Given the description of an element on the screen output the (x, y) to click on. 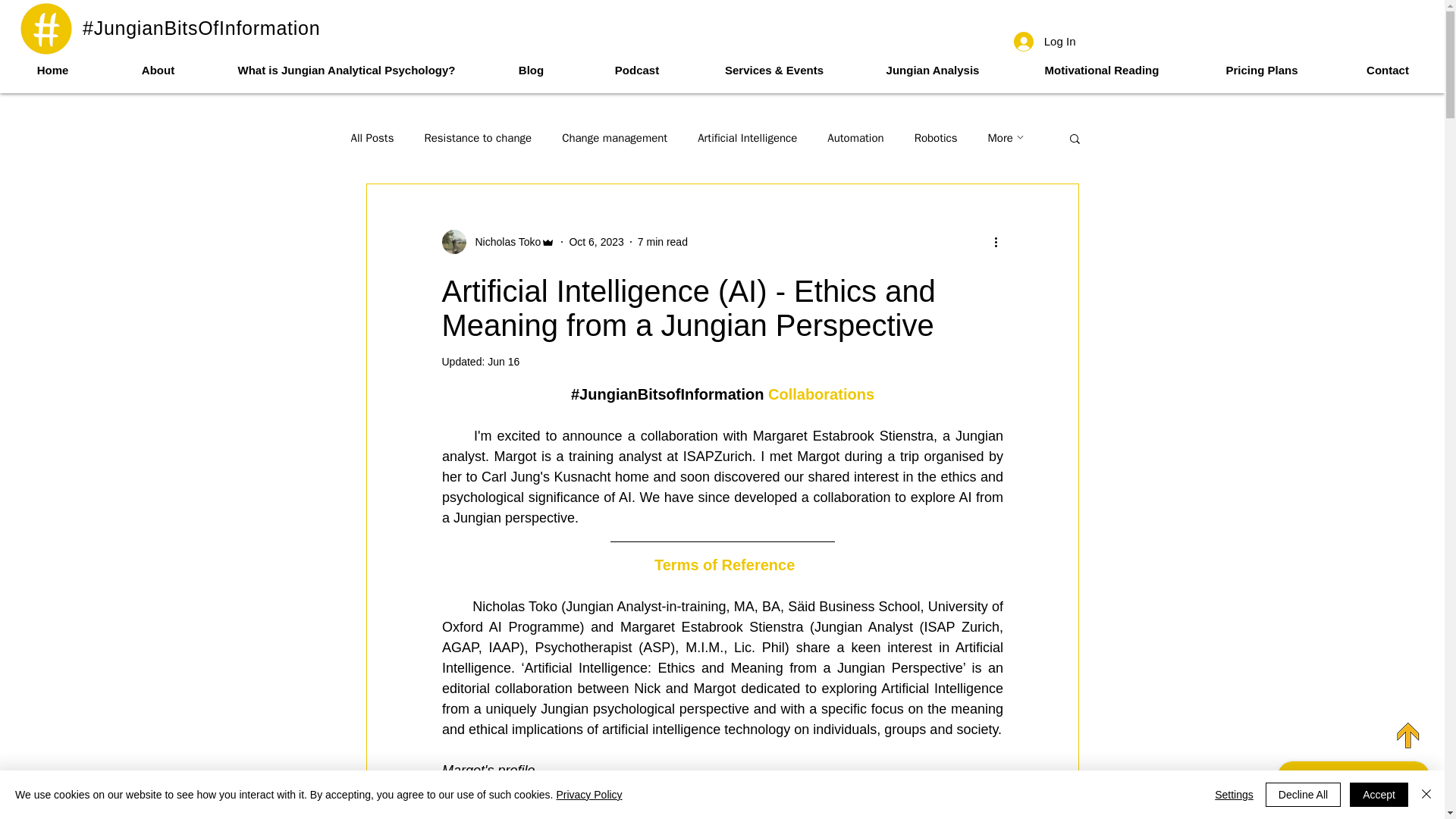
Nicholas Toko (497, 241)
Jun 16 (503, 361)
Artificial Intelligence (746, 137)
Pricing Plans (1261, 70)
What is Jungian Analytical Psychology? (346, 70)
Change management (614, 137)
Nicholas Toko (502, 241)
About (157, 70)
Resistance to change (477, 137)
Oct 6, 2023 (596, 241)
Log In (1044, 41)
Jungian Analysis (932, 70)
Podcast (636, 70)
All Posts (371, 137)
Home (52, 70)
